Given the description of an element on the screen output the (x, y) to click on. 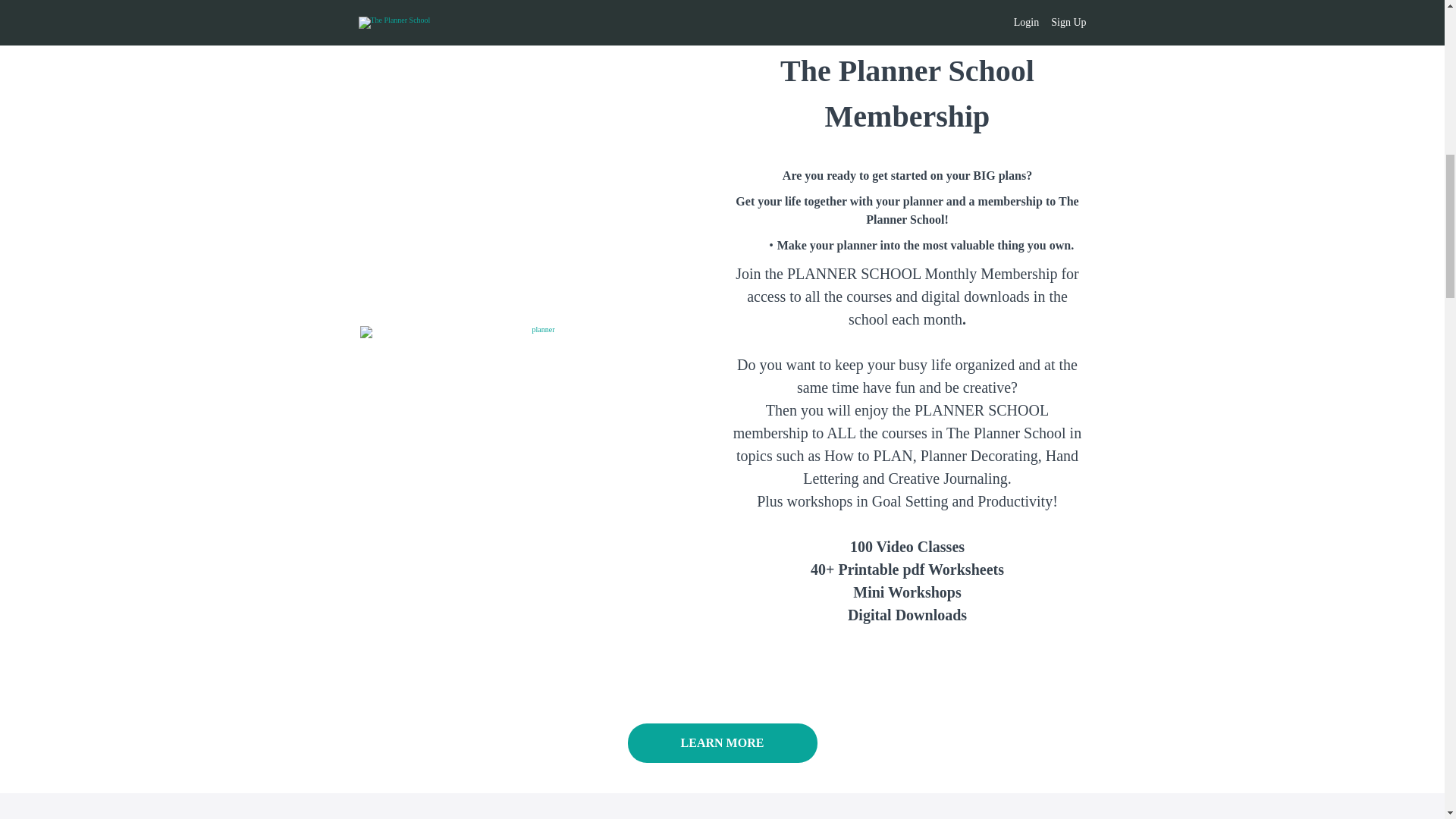
LEARN MORE (721, 744)
LEARN MORE (721, 742)
